Given the description of an element on the screen output the (x, y) to click on. 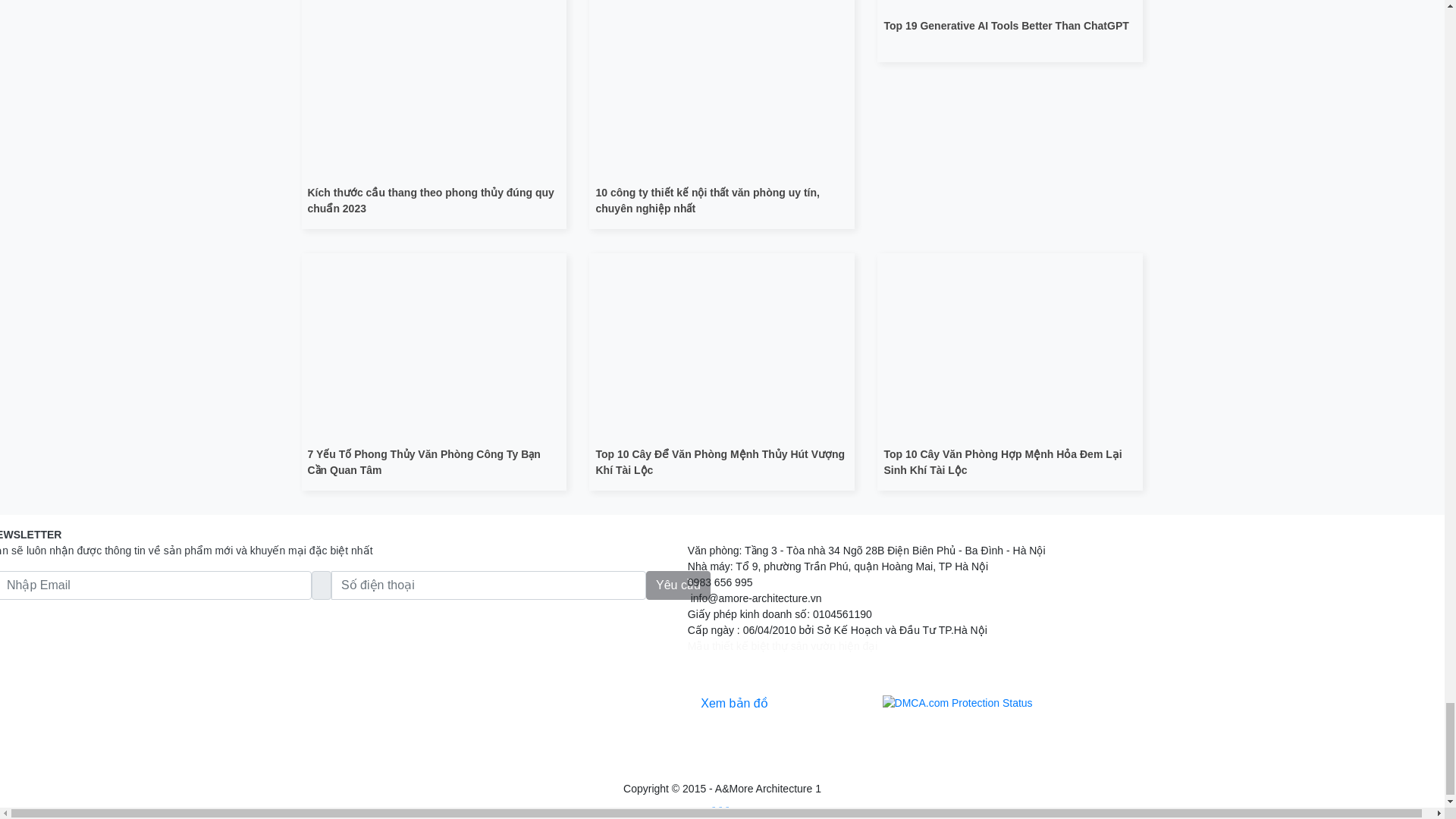
DMCA.com Protection Status (957, 702)
Facebook (713, 810)
Pinterest (720, 810)
Linkedin (727, 810)
